Given the description of an element on the screen output the (x, y) to click on. 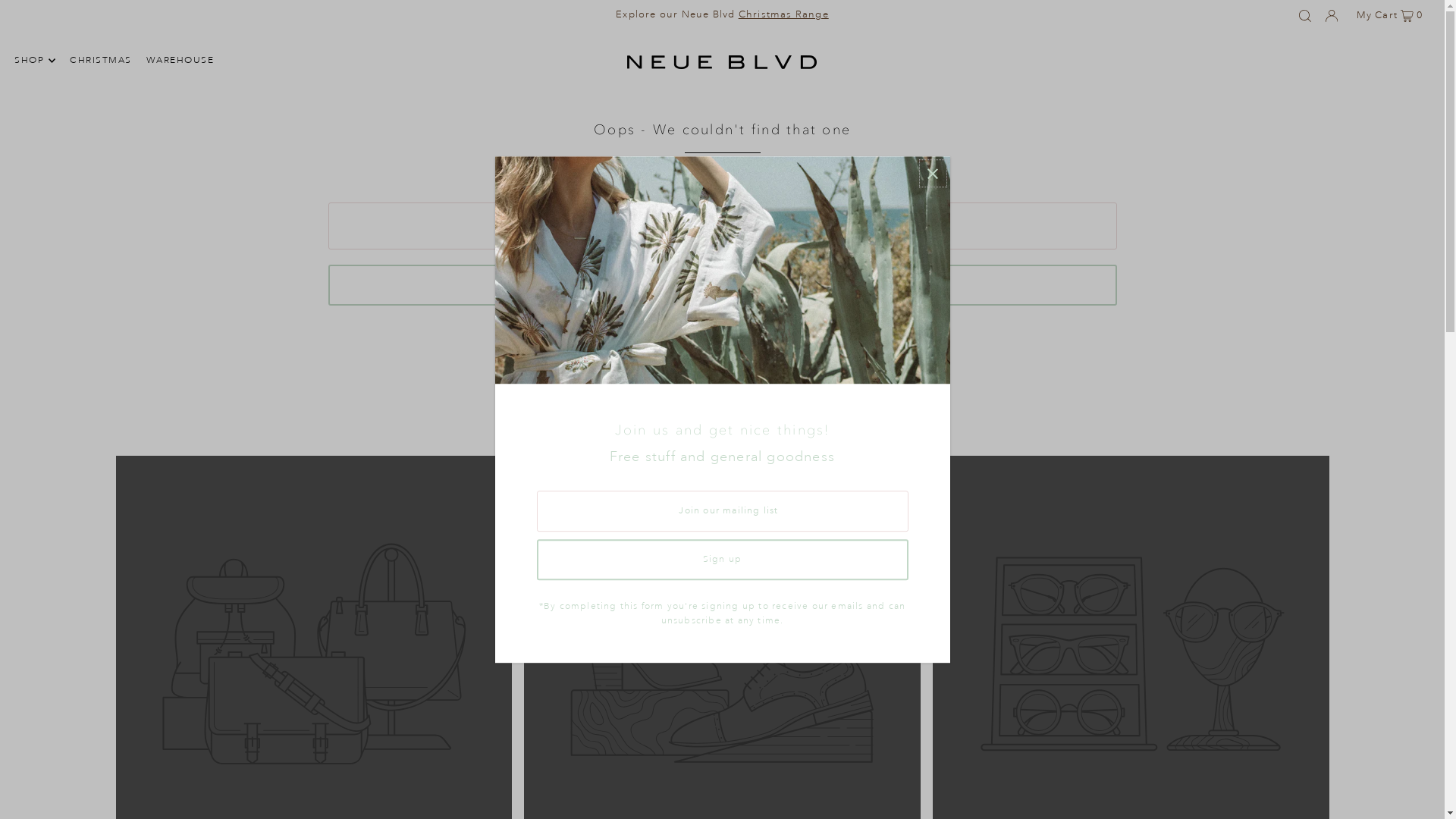
CHRISTMAS Element type: text (100, 60)
Christmas Range Element type: text (783, 14)
Sign up Element type: text (722, 559)
Close popup Element type: hover (932, 173)
WAREHOUSE Element type: text (180, 60)
SHOP Element type: text (34, 60)
Search Element type: text (721, 284)
